Given the description of an element on the screen output the (x, y) to click on. 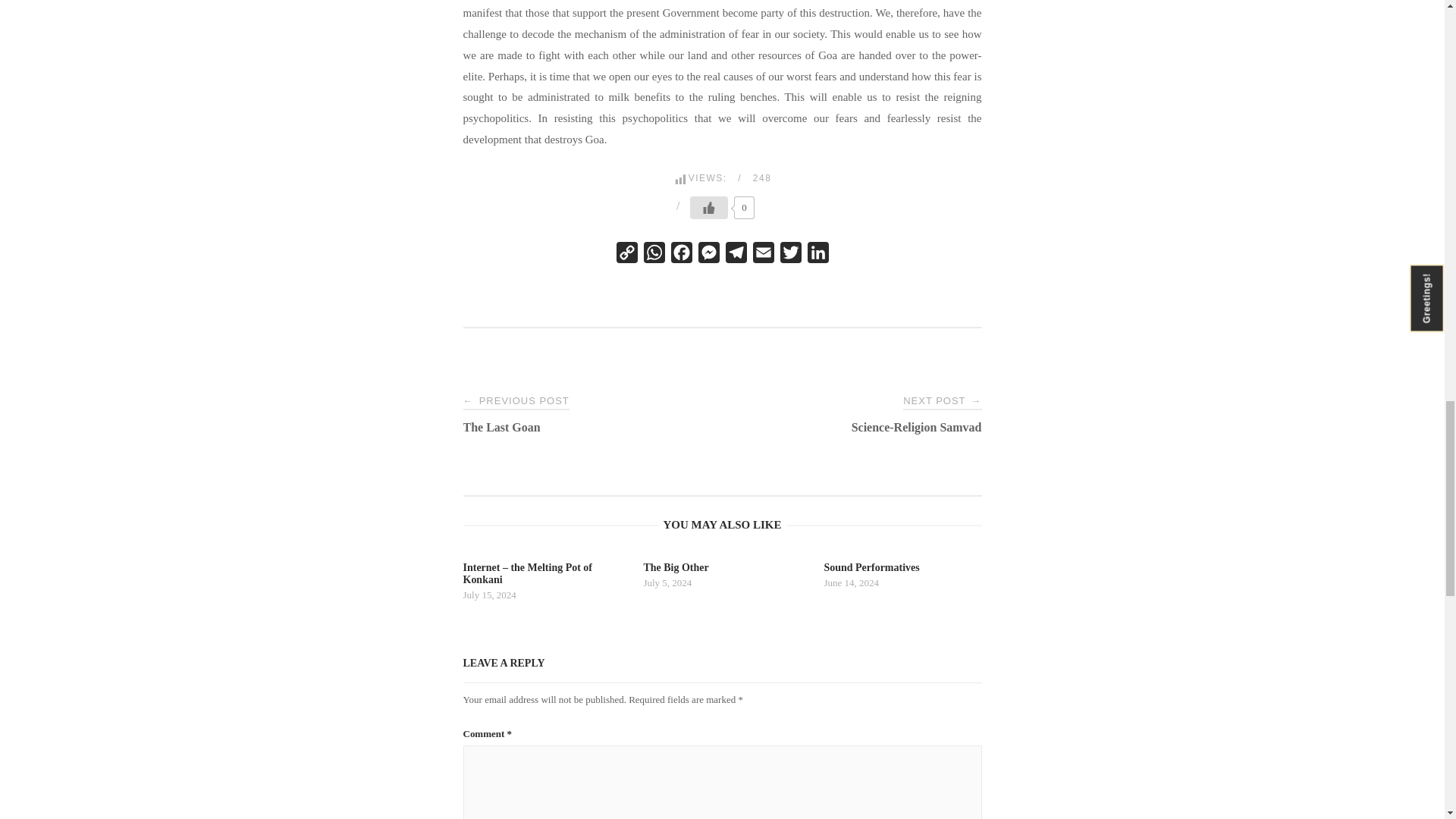
Sound Performatives (902, 576)
The  Big Other (721, 576)
Twitter (789, 255)
WhatsApp (653, 255)
Messenger (708, 255)
LinkedIn (817, 255)
Messenger (708, 255)
Twitter (789, 255)
Facebook (680, 255)
LinkedIn (817, 255)
